Given the description of an element on the screen output the (x, y) to click on. 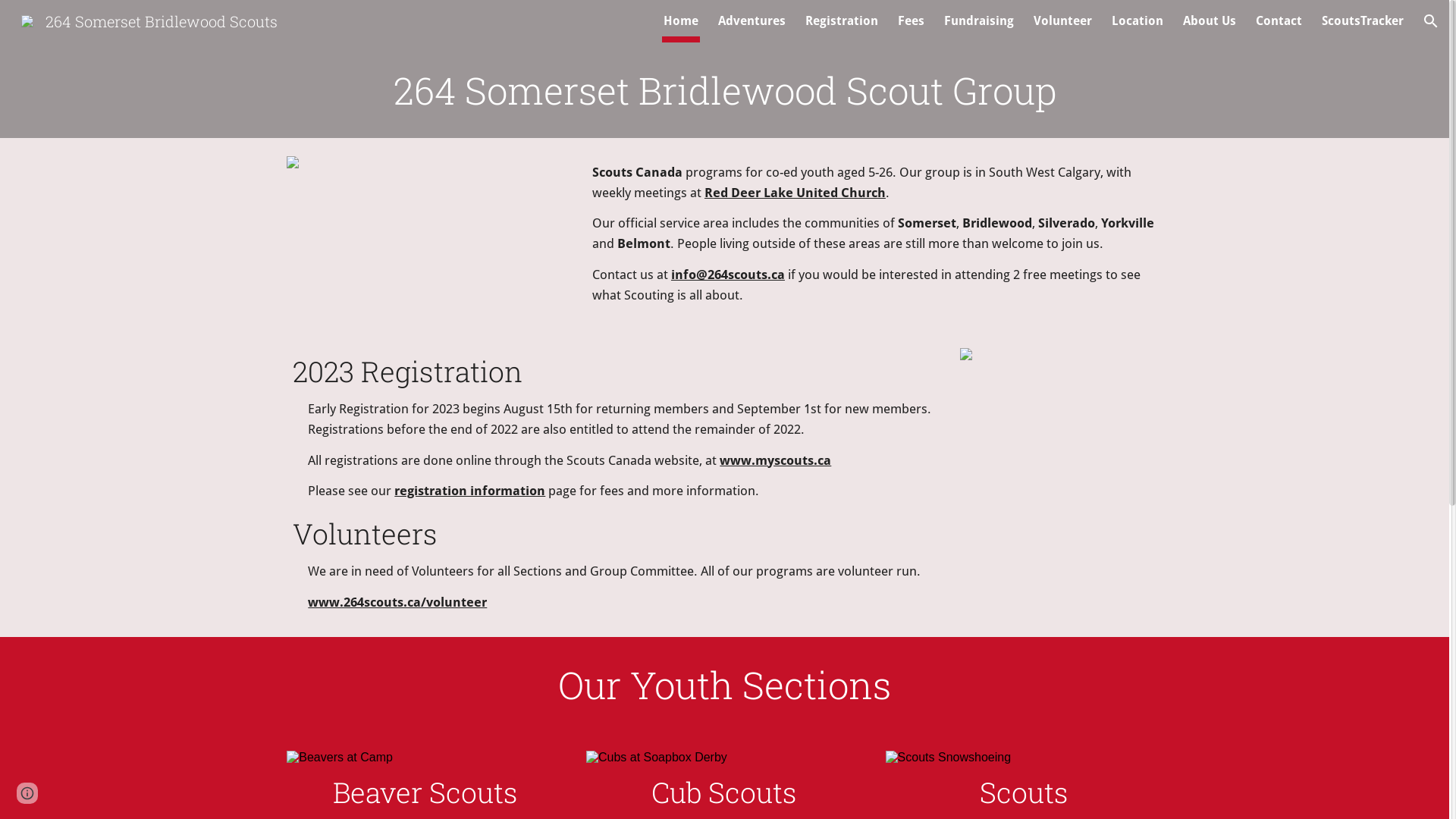
Volunteer Element type: text (1062, 20)
Red Deer Lake United Church Element type: text (794, 192)
Home Element type: text (680, 20)
Fundraising Element type: text (978, 20)
Location Element type: text (1137, 20)
Adventures Element type: text (751, 20)
Registration Element type: text (841, 20)
info@264scouts.ca Element type: text (727, 274)
Fees Element type: text (910, 20)
www.264scouts.ca/volunteer Element type: text (396, 601)
www.myscouts.ca Element type: text (775, 459)
264 Somerset Bridlewood Scouts Element type: text (149, 18)
ScoutsTracker Element type: text (1362, 20)
registration information Element type: text (469, 490)
About Us Element type: text (1209, 20)
Contact Element type: text (1278, 20)
